Given the description of an element on the screen output the (x, y) to click on. 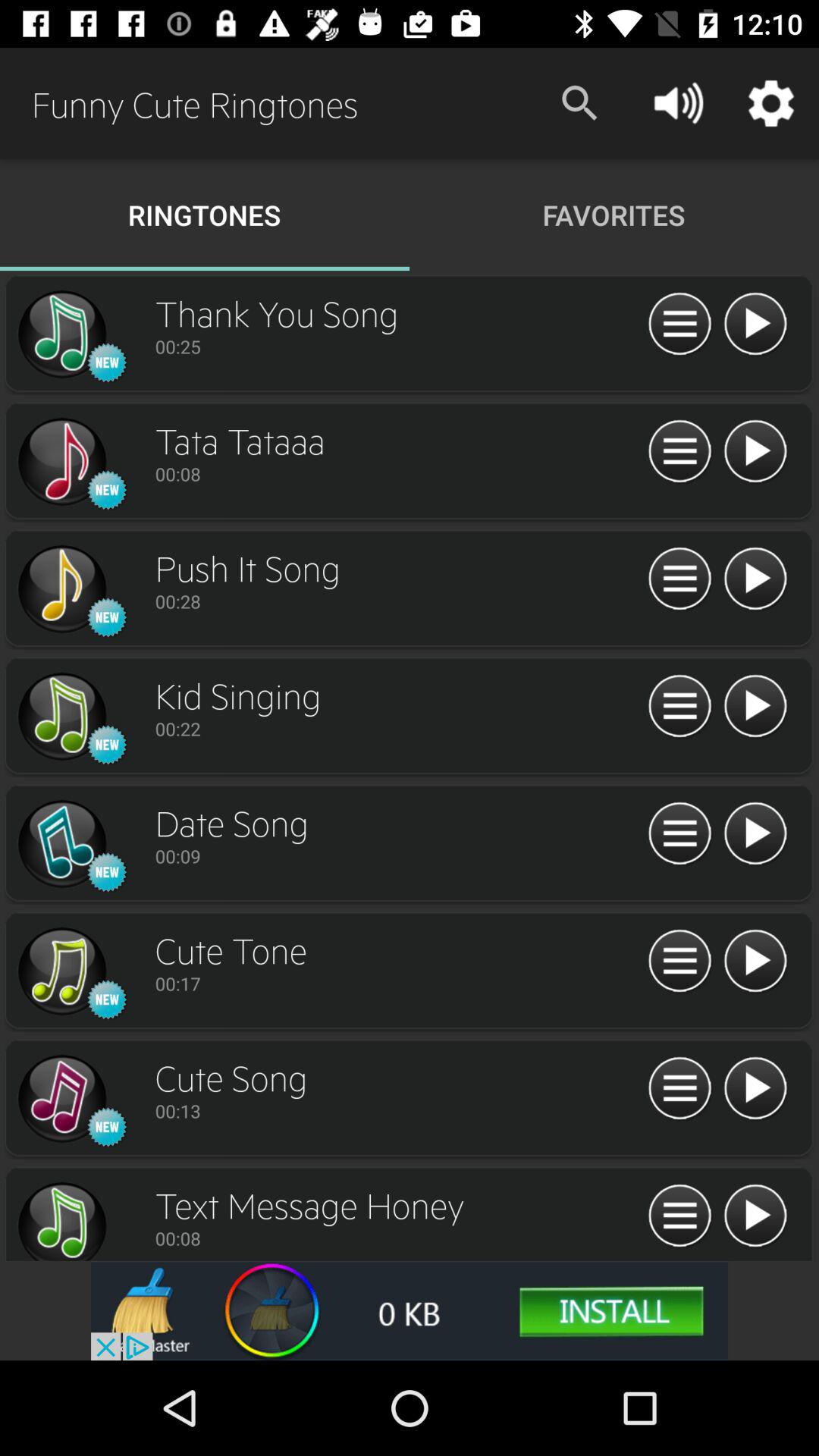
open advertisement (409, 1310)
